Given the description of an element on the screen output the (x, y) to click on. 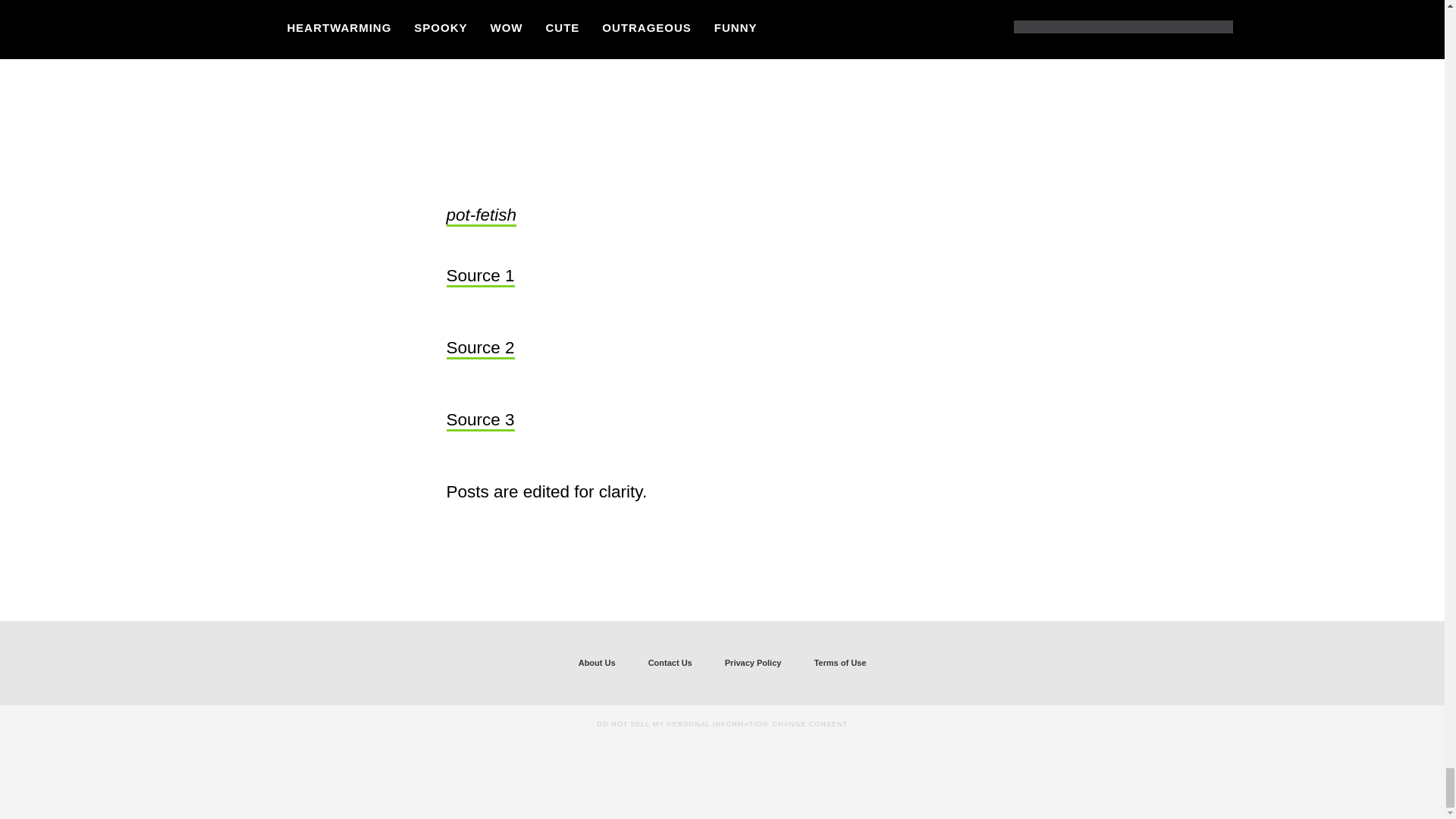
Source 2 (479, 348)
pot-fetish (480, 215)
Source 1 (479, 276)
Source 3 (479, 420)
